Given the description of an element on the screen output the (x, y) to click on. 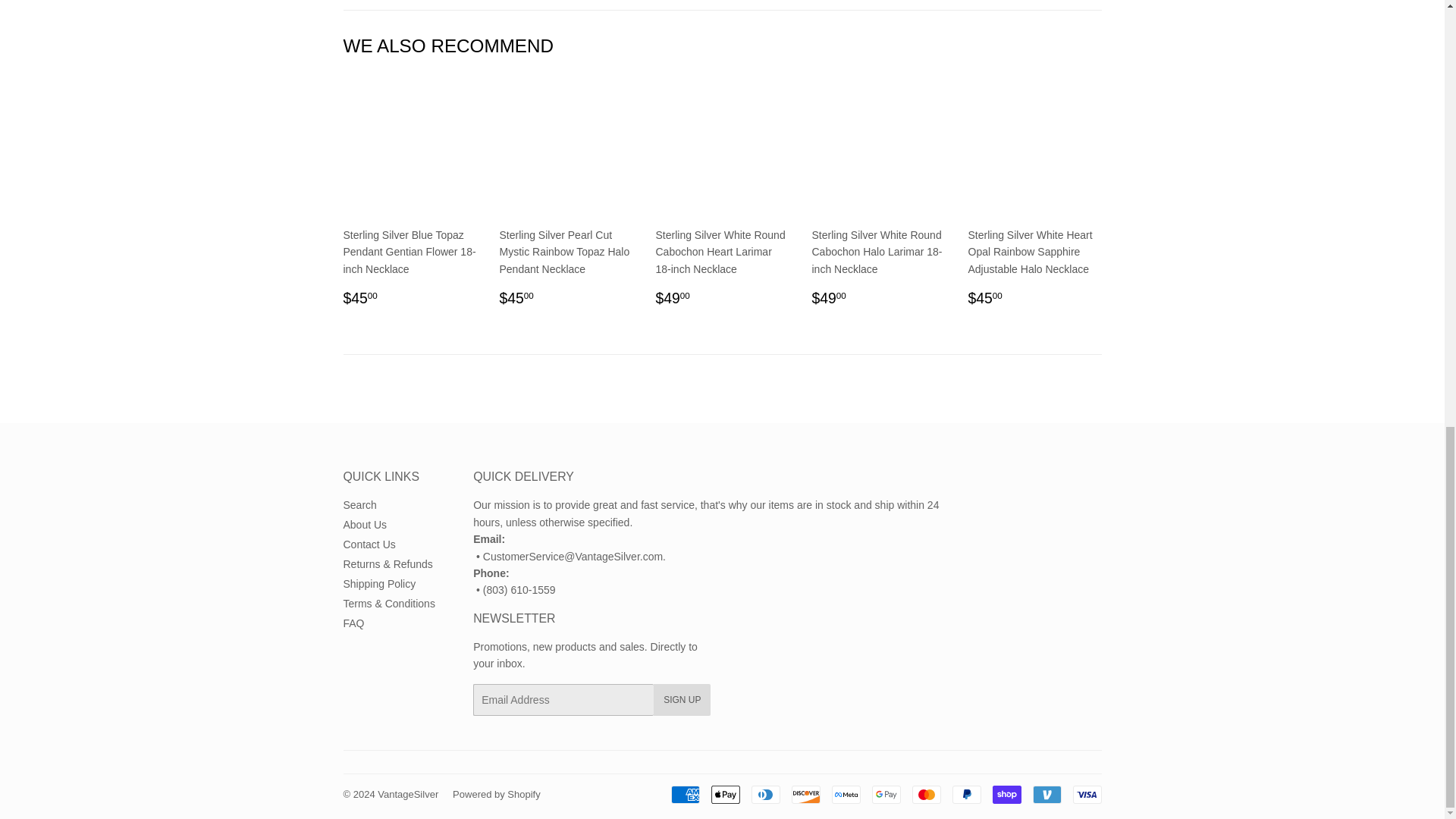
Google Pay (886, 794)
American Express (683, 794)
Shop Pay (1005, 794)
PayPal (966, 794)
Mastercard (925, 794)
Discover (806, 794)
Meta Pay (845, 794)
Apple Pay (725, 794)
Venmo (1046, 794)
Visa (1085, 794)
